Given the description of an element on the screen output the (x, y) to click on. 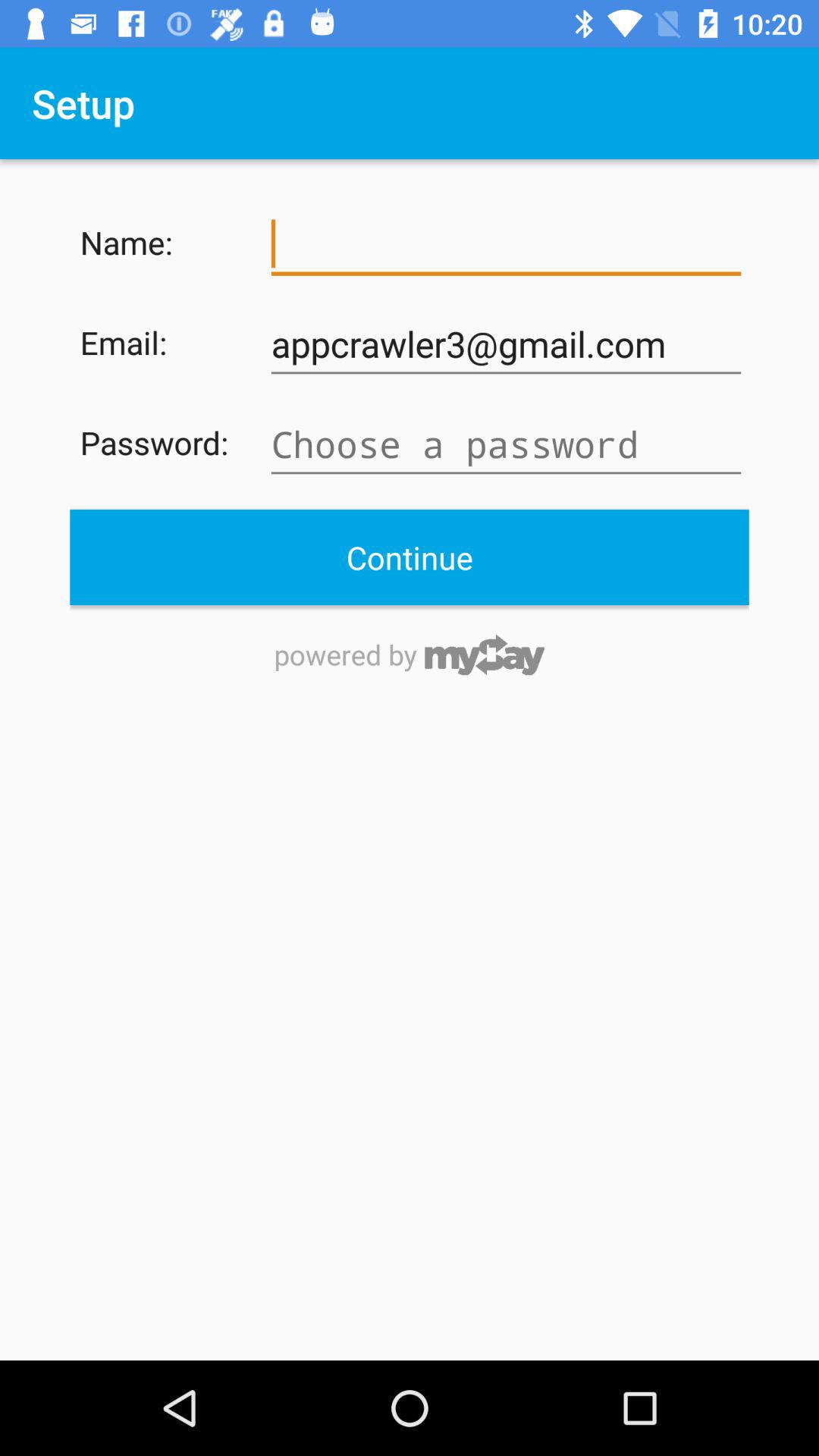
turn off the item to the right of password: icon (506, 444)
